Given the description of an element on the screen output the (x, y) to click on. 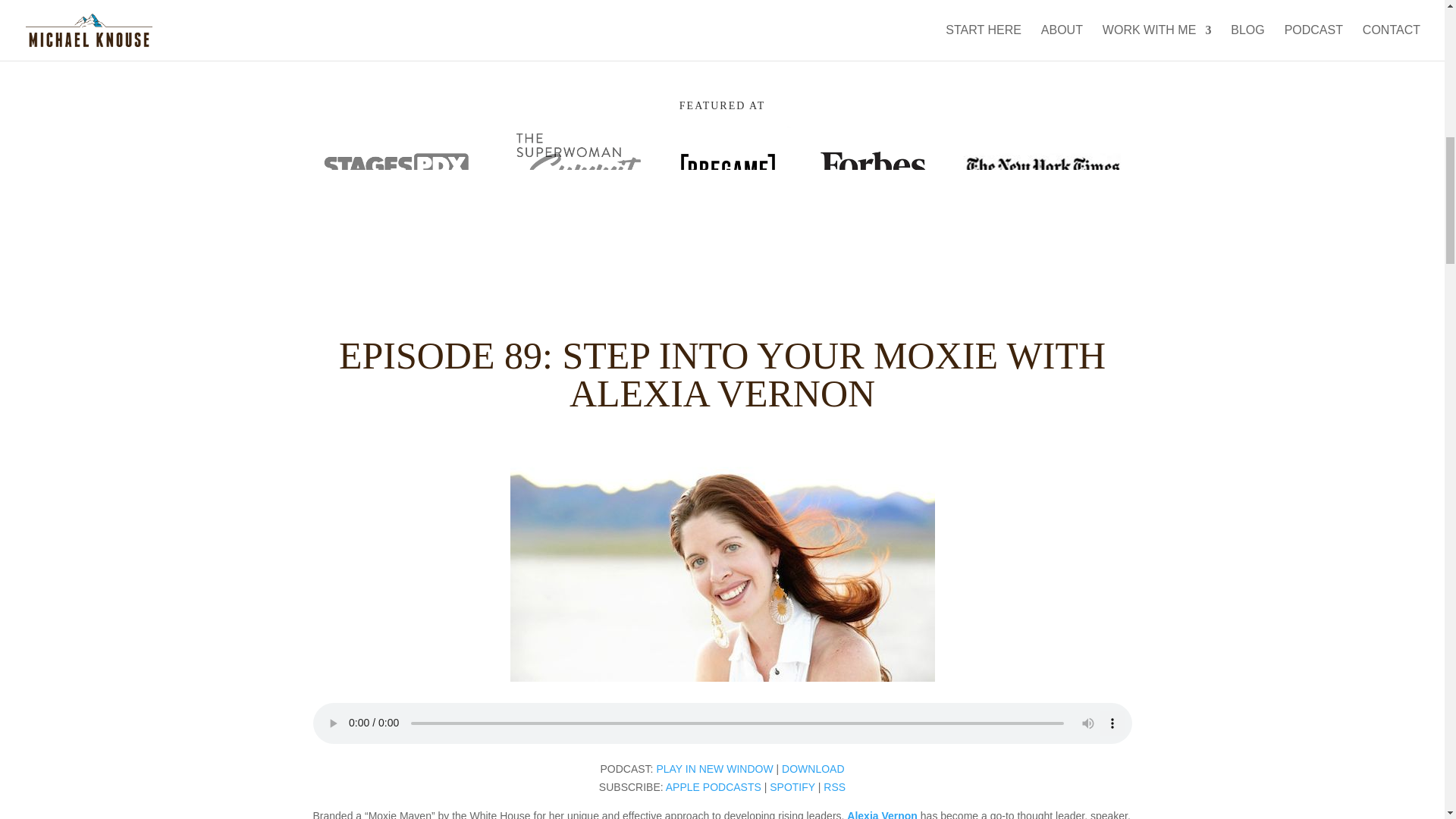
DOWNLOAD (812, 768)
Subscribe via RSS (834, 787)
RSS (834, 787)
Download (812, 768)
SPOTIFY (792, 787)
APPLE PODCASTS (713, 787)
Subscribe on Apple Podcasts (713, 787)
PLAY IN NEW WINDOW (714, 768)
Play in new window (714, 768)
Alexia Vernon (882, 814)
